Given the description of an element on the screen output the (x, y) to click on. 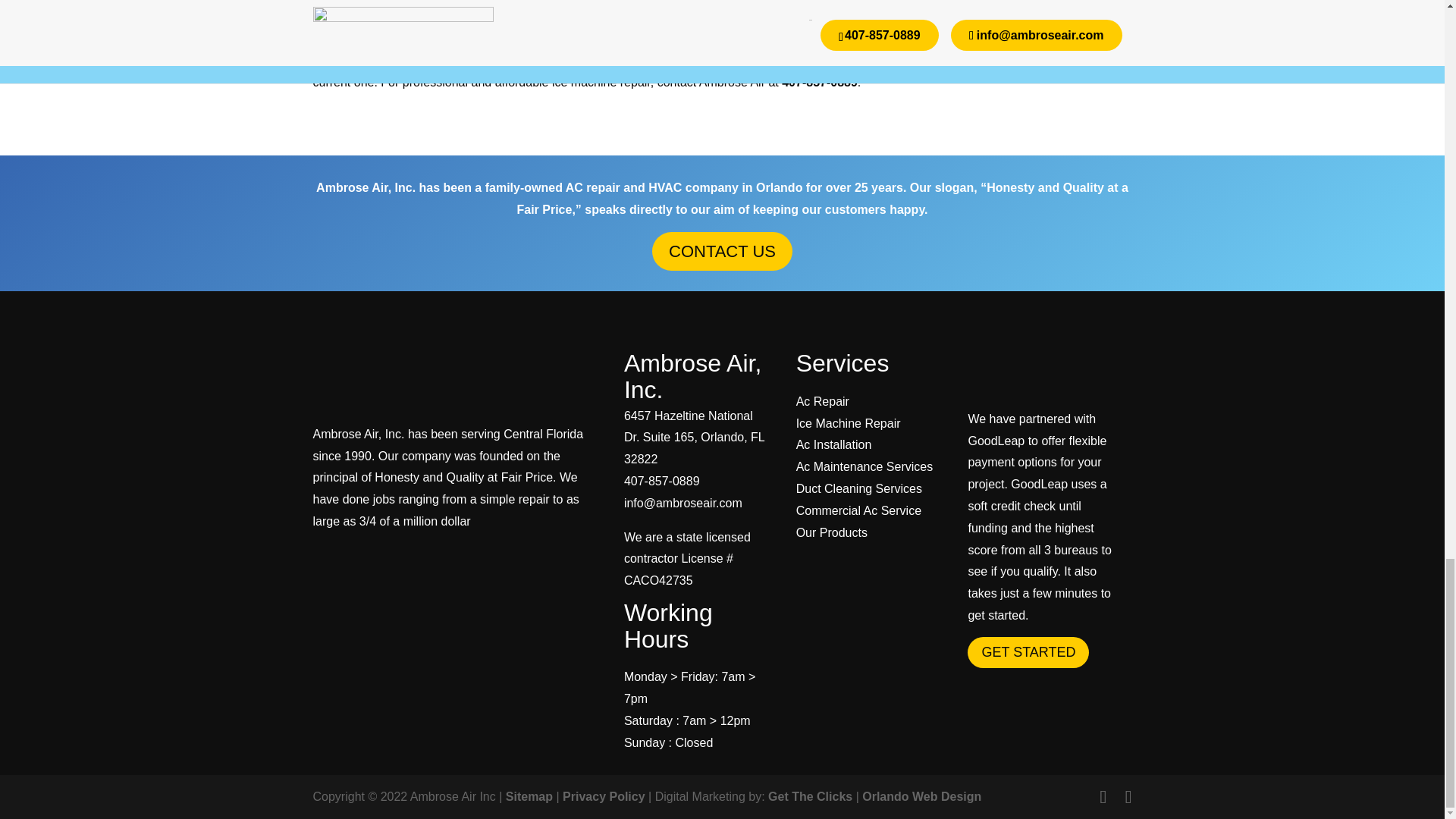
Commercial Ac Service (858, 510)
ambrose-logo-1 (403, 378)
Ice Machine Repair (848, 422)
407-857-0889 (662, 481)
Ac Maintenance Services (864, 466)
Ac Installation (834, 444)
CONTACT US (722, 251)
GET STARTED (1028, 652)
Ac Repair (822, 400)
Duct Cleaning Services (858, 488)
Our Products (831, 532)
